Given the description of an element on the screen output the (x, y) to click on. 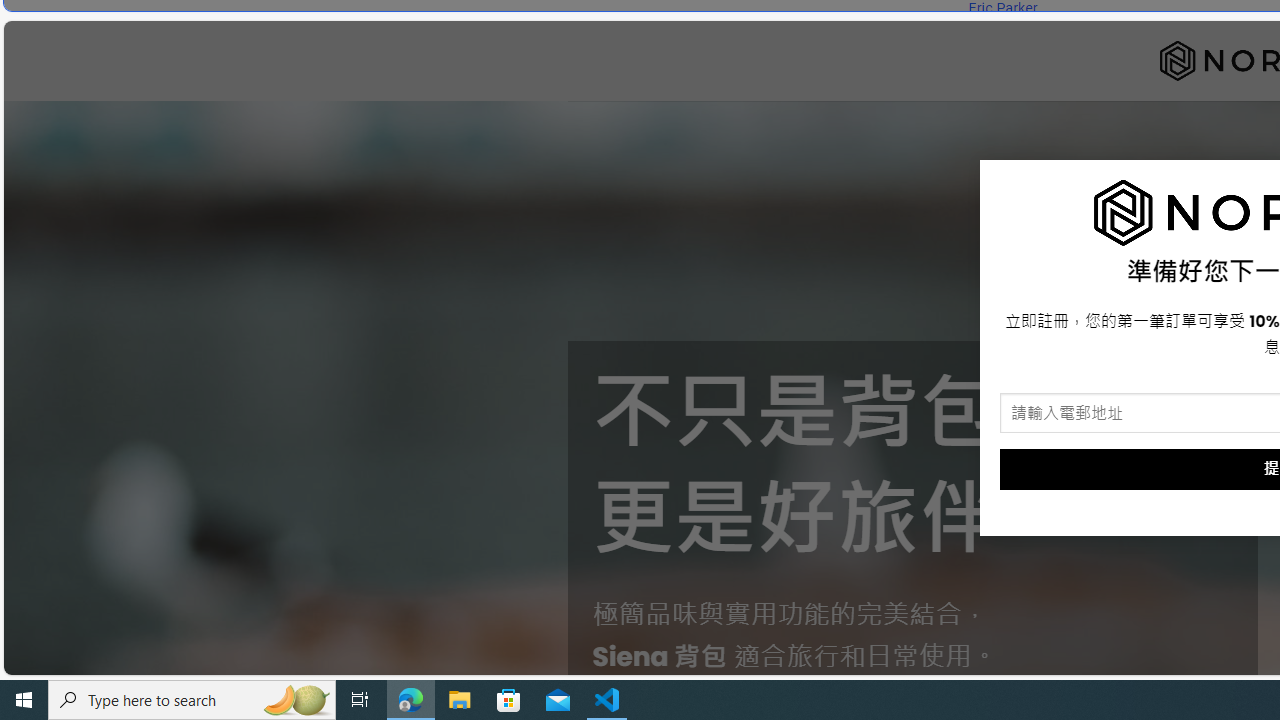
Eric Parker (1002, 8)
